Given the description of an element on the screen output the (x, y) to click on. 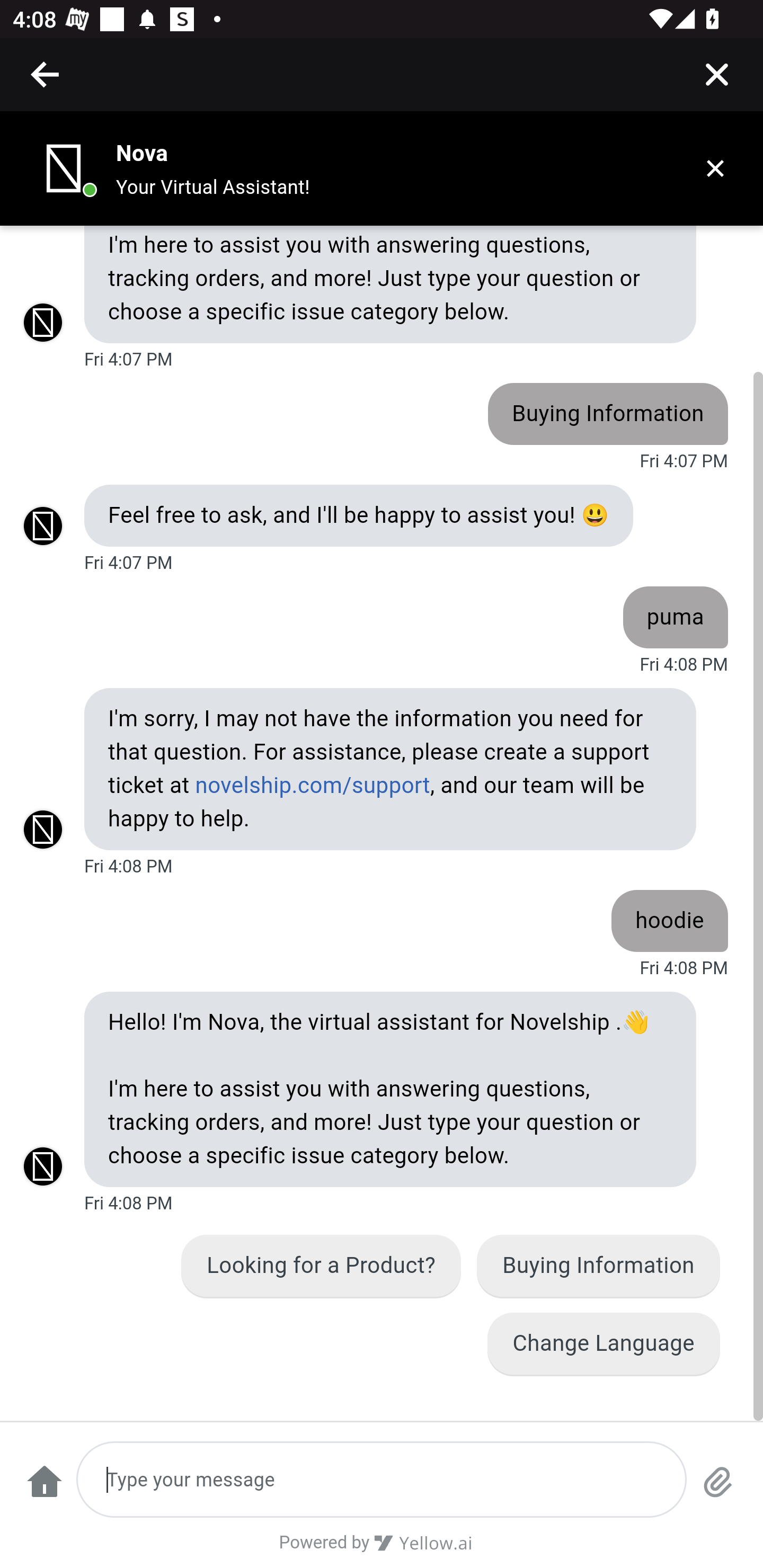
 (46, 74)
 (716, 74)
Nova bot icon (63, 168)
close bot (715, 168)
novelship.com/support (312, 786)
Looking for a Product? (321, 1265)
Buying Information (598, 1265)
Change Language (603, 1343)
restart conversation (44, 1489)
upload file (718, 1489)
Powered by (381, 1549)
